Given the description of an element on the screen output the (x, y) to click on. 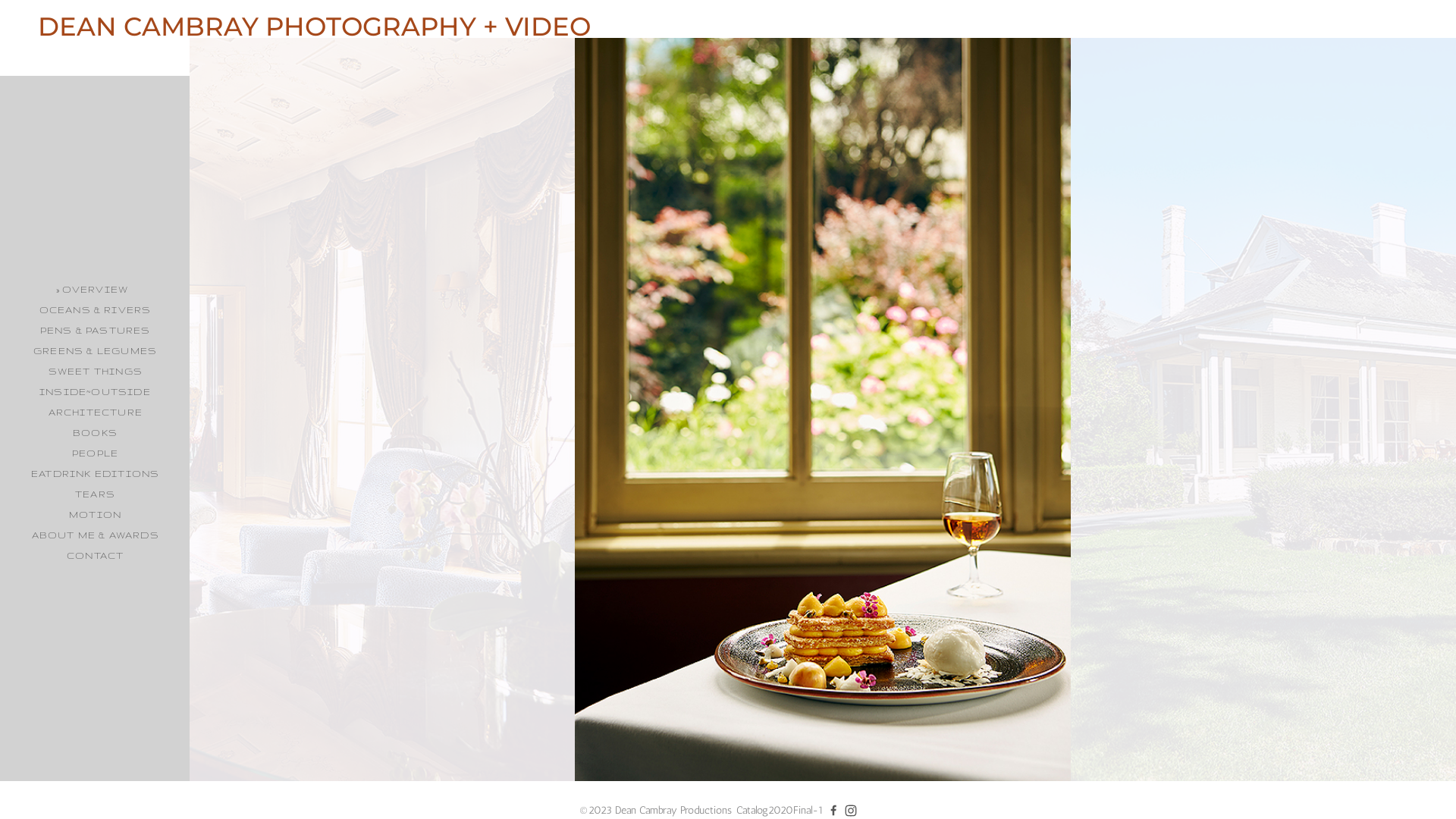
INSIDE~OUTSIDE Element type: text (94, 391)
FULLSCREEN Element type: text (70, 801)
CONTACT Element type: text (94, 555)
OVERVIEW Element type: text (95, 289)
EATDRINK EDITIONS Element type: text (95, 473)
PENS & PASTURES Element type: text (94, 330)
86 OF 149 Element type: text (198, 801)
ARCHITECTURE Element type: text (95, 412)
OCEANS & RIVERS Element type: text (95, 309)
BOOKS Element type: text (94, 432)
GREENS & LEGUMES Element type: text (94, 350)
MOTION Element type: text (95, 514)
SWEET THINGS Element type: text (95, 371)
ABOUT ME & AWARDS Element type: text (95, 534)
INQUIRY Element type: text (145, 801)
PEOPLE Element type: text (95, 453)
TEARS Element type: text (95, 493)
